Given the description of an element on the screen output the (x, y) to click on. 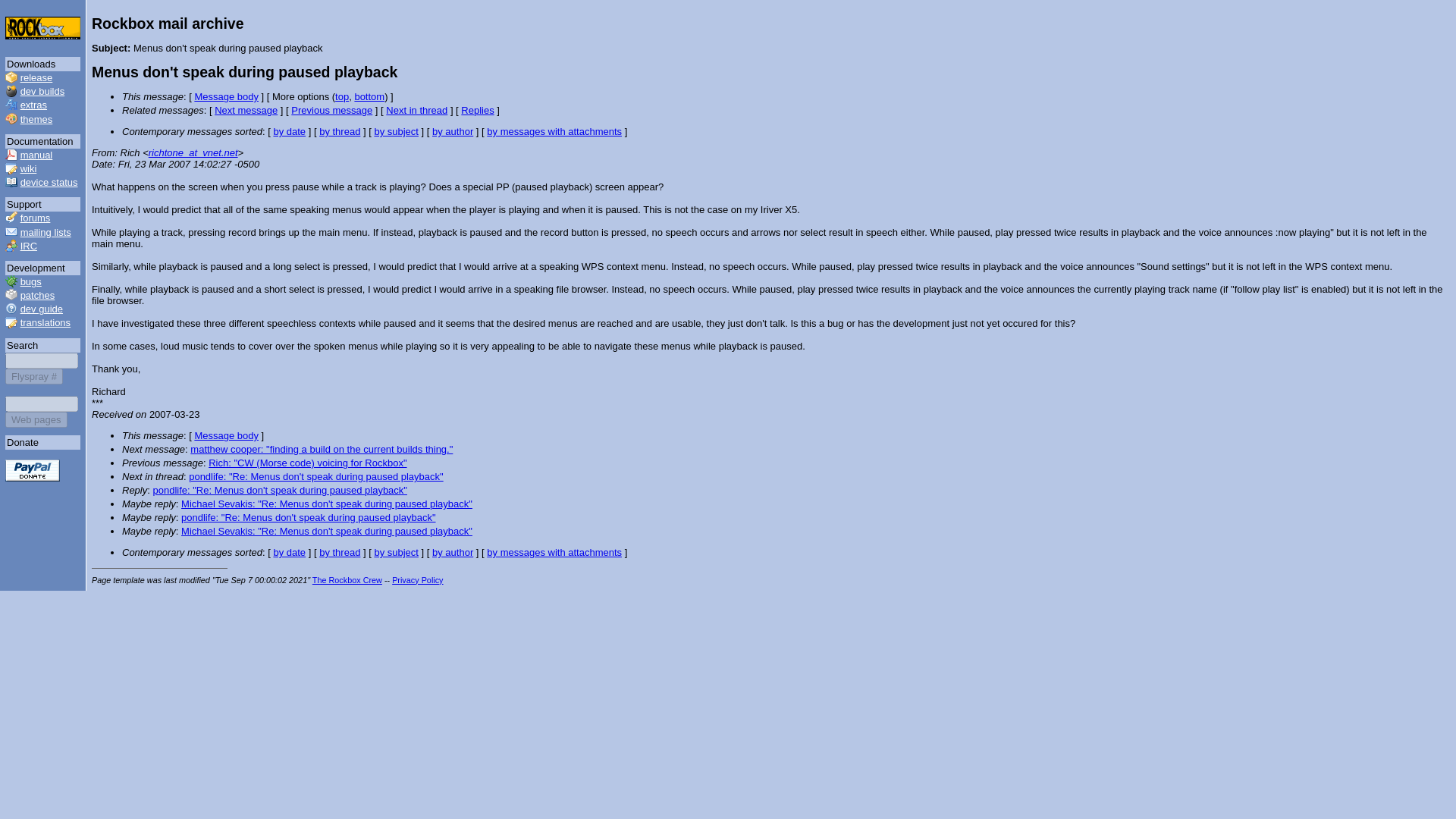
by thread (338, 131)
bugs (31, 281)
by date (289, 131)
Contemporary messages by author (452, 552)
by author (452, 131)
dev guide (41, 308)
release (36, 77)
IRC (28, 245)
